Given the description of an element on the screen output the (x, y) to click on. 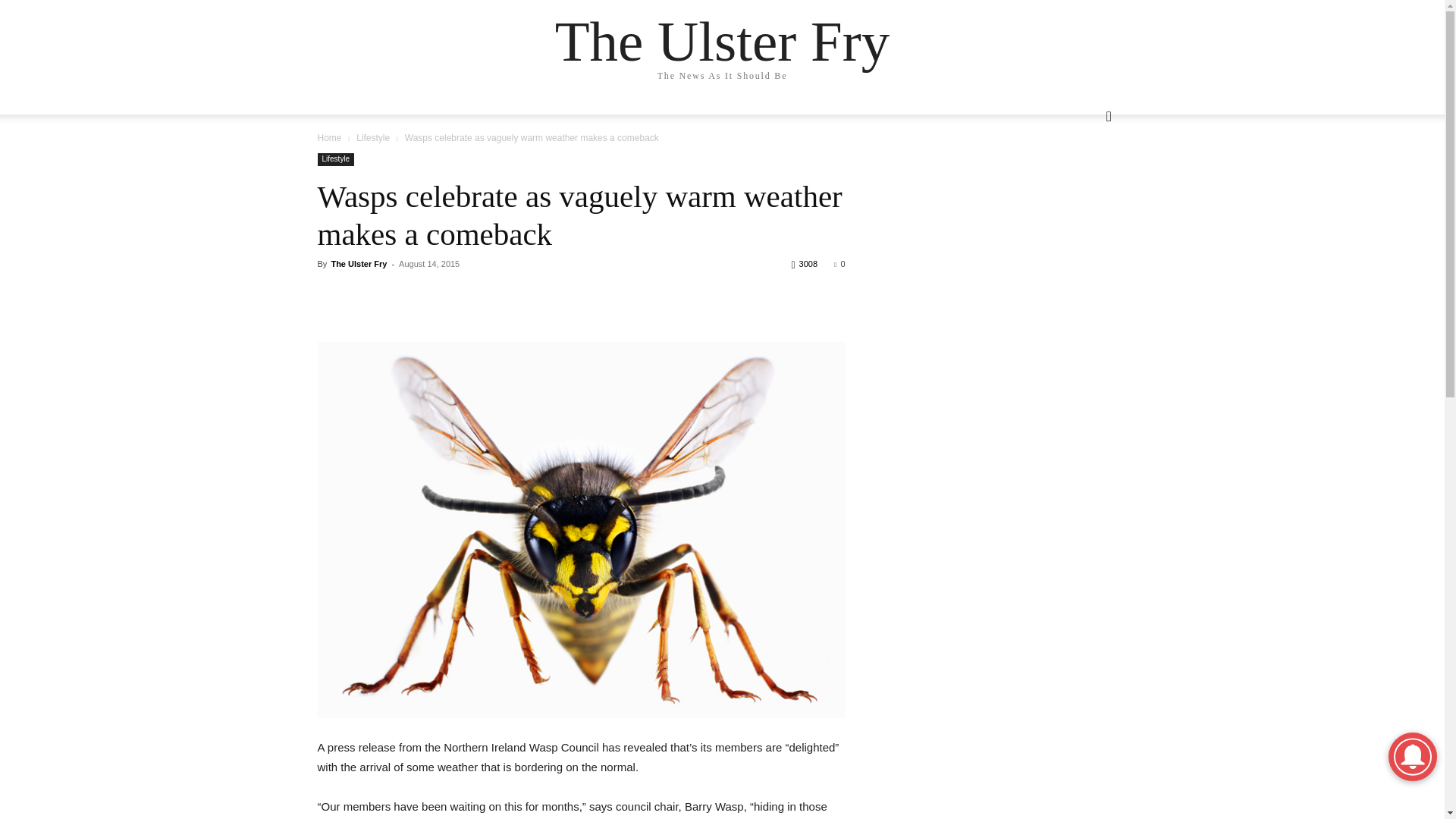
Lifestyle (335, 159)
The Ulster Fry (358, 263)
The Ulster Fry (721, 41)
Search (1081, 177)
0 (839, 263)
Home (328, 137)
View all posts in Lifestyle (373, 137)
Lifestyle (373, 137)
